Given the description of an element on the screen output the (x, y) to click on. 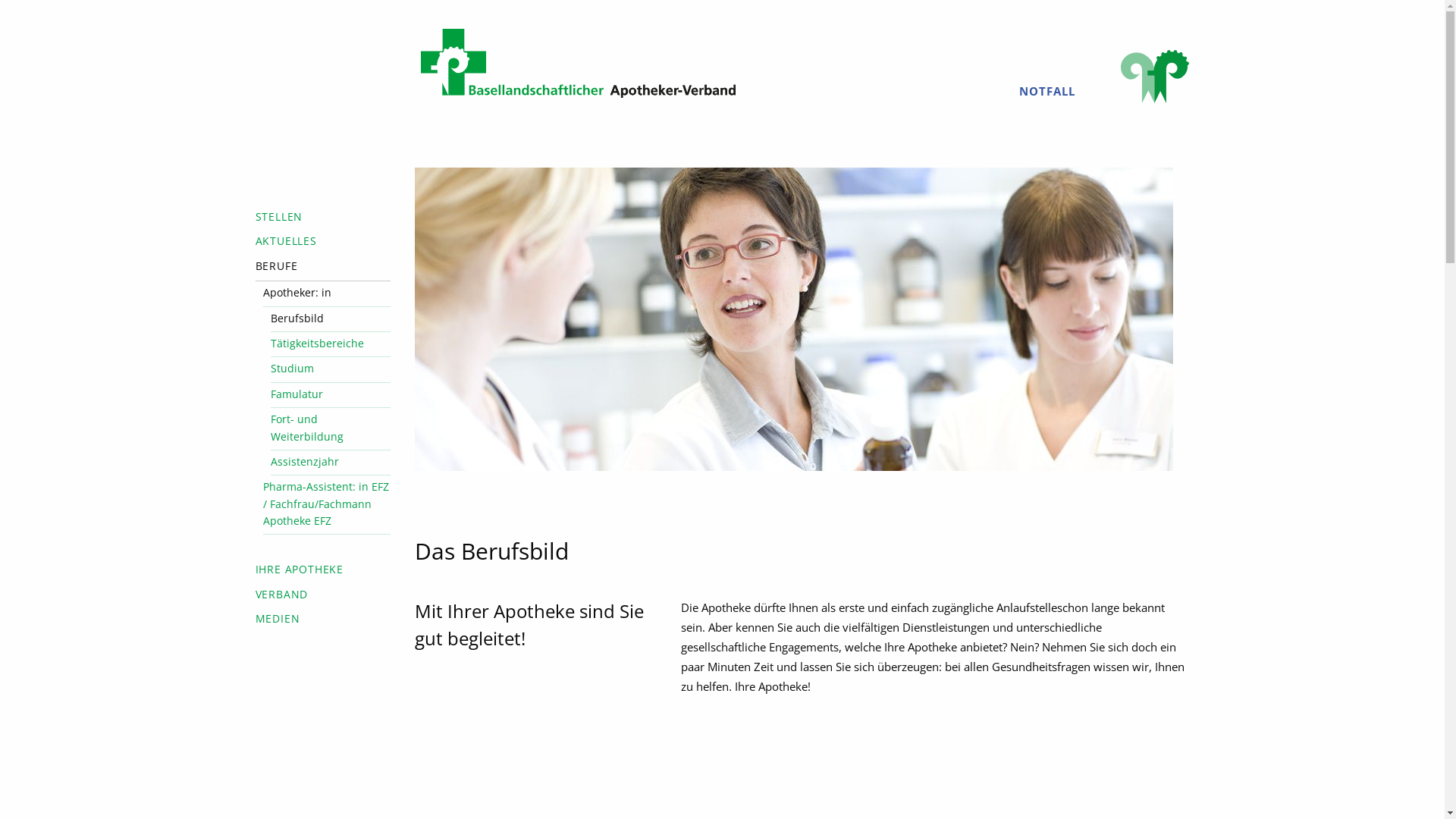
Famulatur Element type: text (329, 396)
STELLEN Element type: text (322, 218)
Berufsbild Element type: text (329, 321)
Studium Element type: text (329, 371)
IHRE APOTHEKE Element type: text (322, 571)
Apotheker: in Element type: text (326, 295)
BERUFE Element type: text (322, 268)
AKTUELLES Element type: text (322, 243)
Pharma-Assistent: in EFZ / Fachfrau/Fachmann Apotheke EFZ Element type: text (326, 506)
Fort- und Weiterbildung Element type: text (329, 430)
Assistenzjahr Element type: text (329, 464)
MEDIEN Element type: text (322, 620)
NOTFALL Element type: text (1047, 90)
VERBAND Element type: text (322, 596)
